Given the description of an element on the screen output the (x, y) to click on. 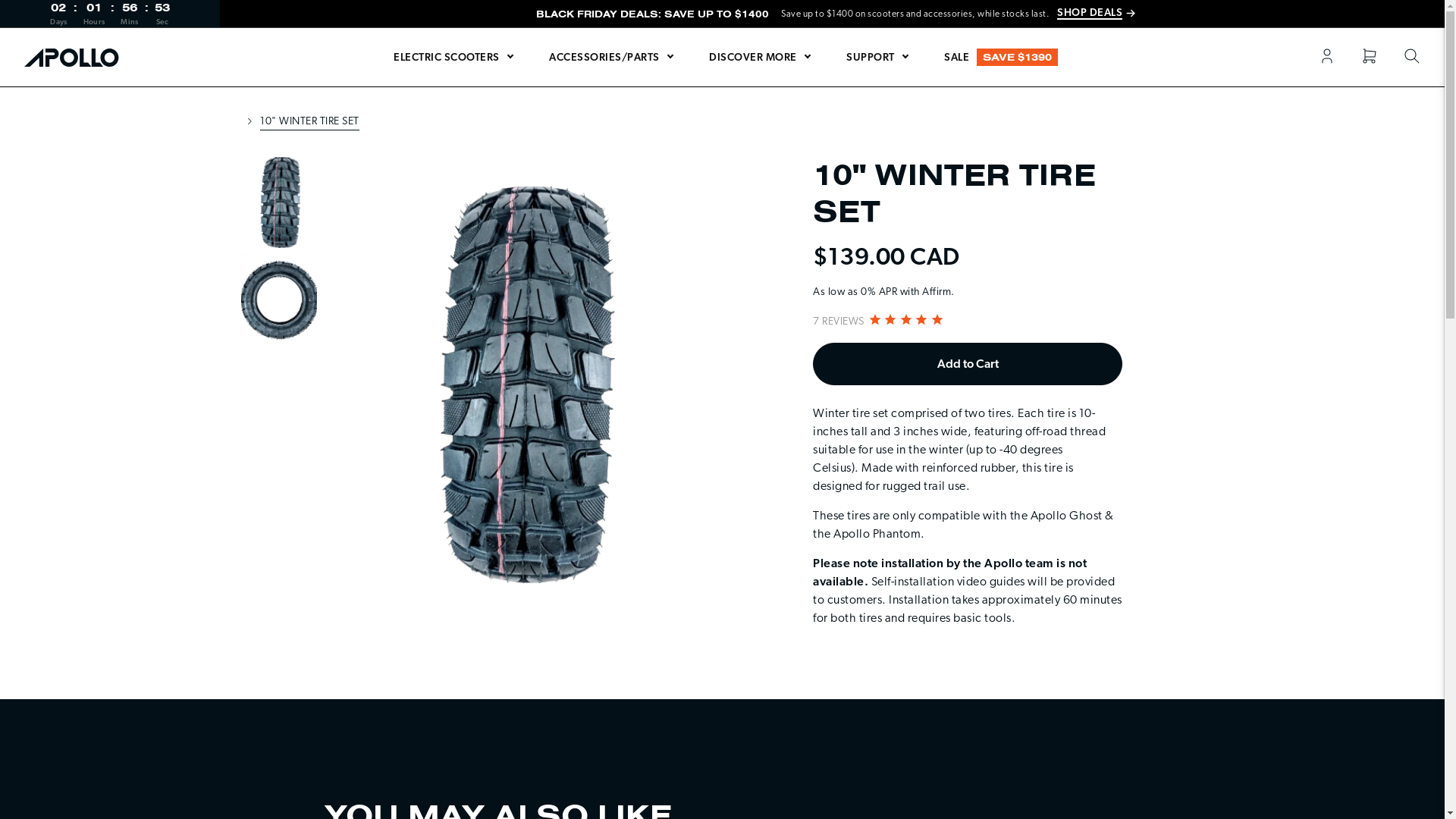
cart Element type: text (1369, 57)
user Element type: text (1326, 57)
Logo/default Element type: text (74, 56)
DISCOVER MORE Element type: text (759, 57)
Submit Element type: text (36, 21)
ACCESSORIES/PARTS Element type: text (610, 57)
SUPPORT Element type: text (876, 57)
ELECTRIC SCOOTERS Element type: text (452, 57)
SALE
SAVE $1390 Element type: text (1000, 56)
Add to Cart Element type: text (967, 363)
